Given the description of an element on the screen output the (x, y) to click on. 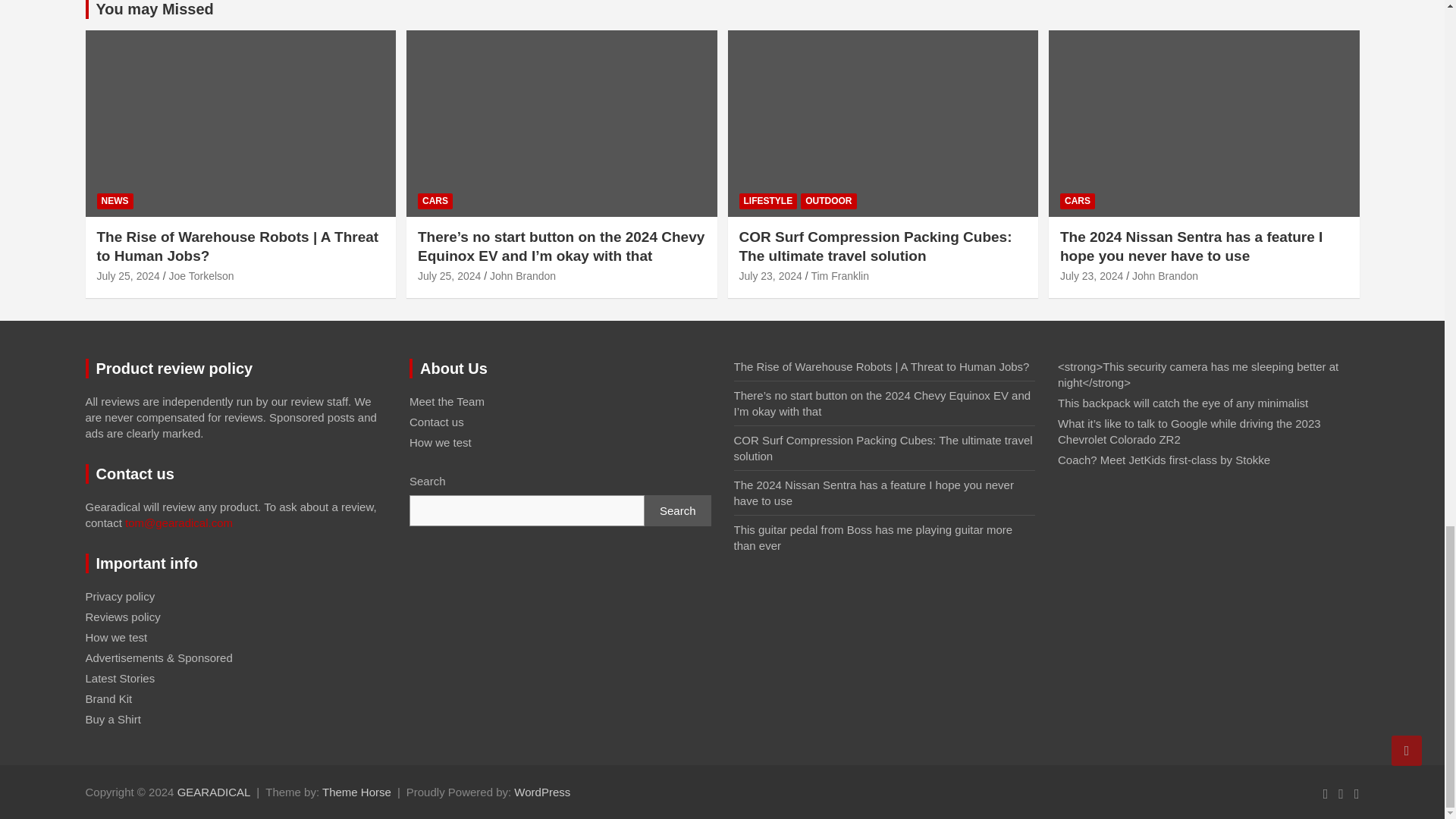
GEARADICAL (213, 791)
WordPress (541, 791)
Theme Horse (356, 791)
You may Missed (154, 8)
